Given the description of an element on the screen output the (x, y) to click on. 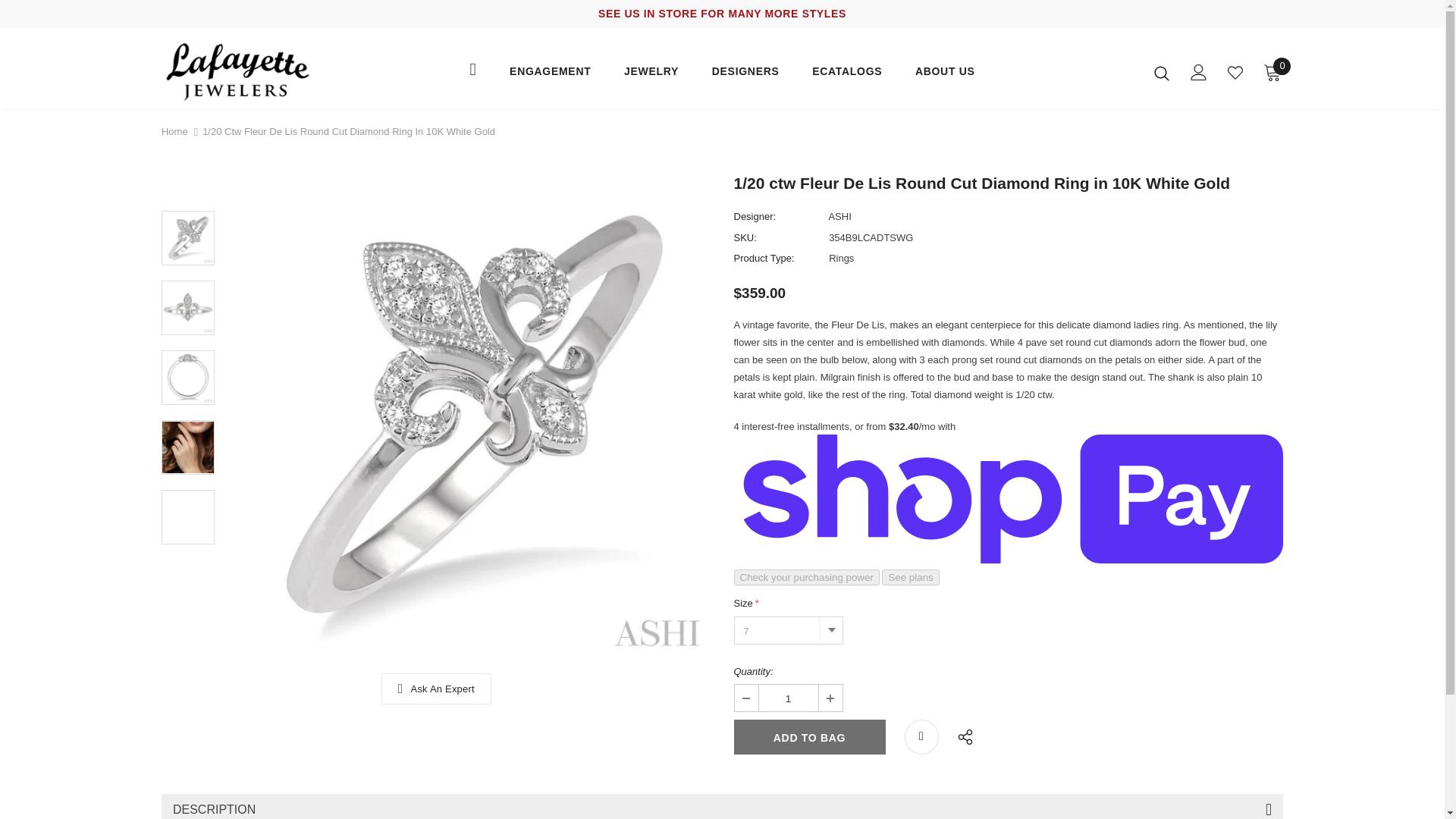
JEWELRY (651, 75)
ENGAGEMENT (550, 75)
DESIGNERS (744, 75)
ECATALOGS (847, 75)
ABOUT US (945, 75)
Add to Bag (809, 736)
1 (787, 697)
